Given the description of an element on the screen output the (x, y) to click on. 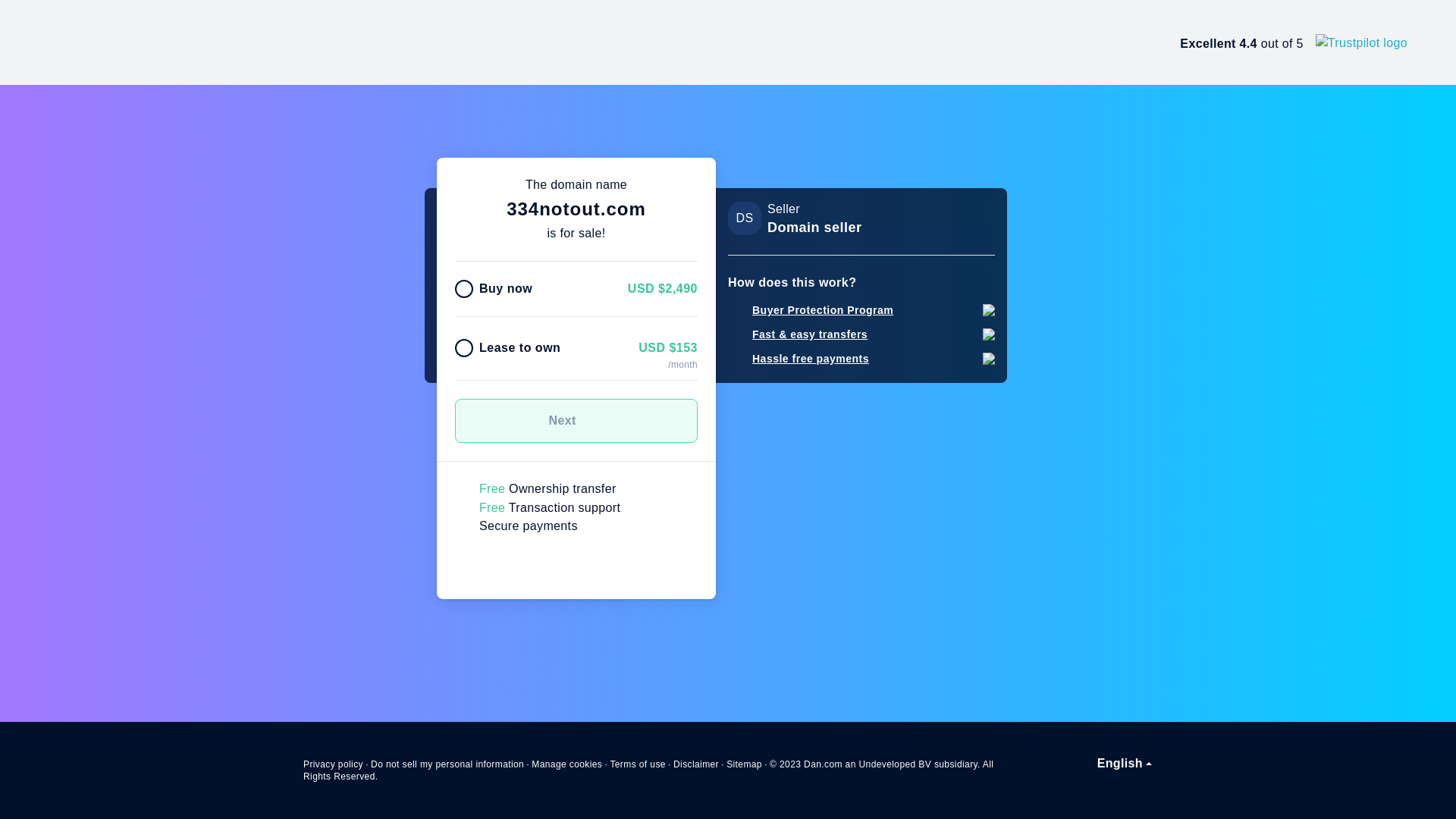
Privacy policy Element type: text (333, 764)
Manage cookies Element type: text (566, 764)
Terms of use Element type: text (637, 764)
English Element type: text (1124, 763)
Sitemap Element type: text (744, 764)
Disclaimer Element type: text (695, 764)
Do not sell my personal information Element type: text (447, 764)
Excellent 4.4 out of 5 Element type: text (1293, 42)
Next
) Element type: text (576, 420)
